Given the description of an element on the screen output the (x, y) to click on. 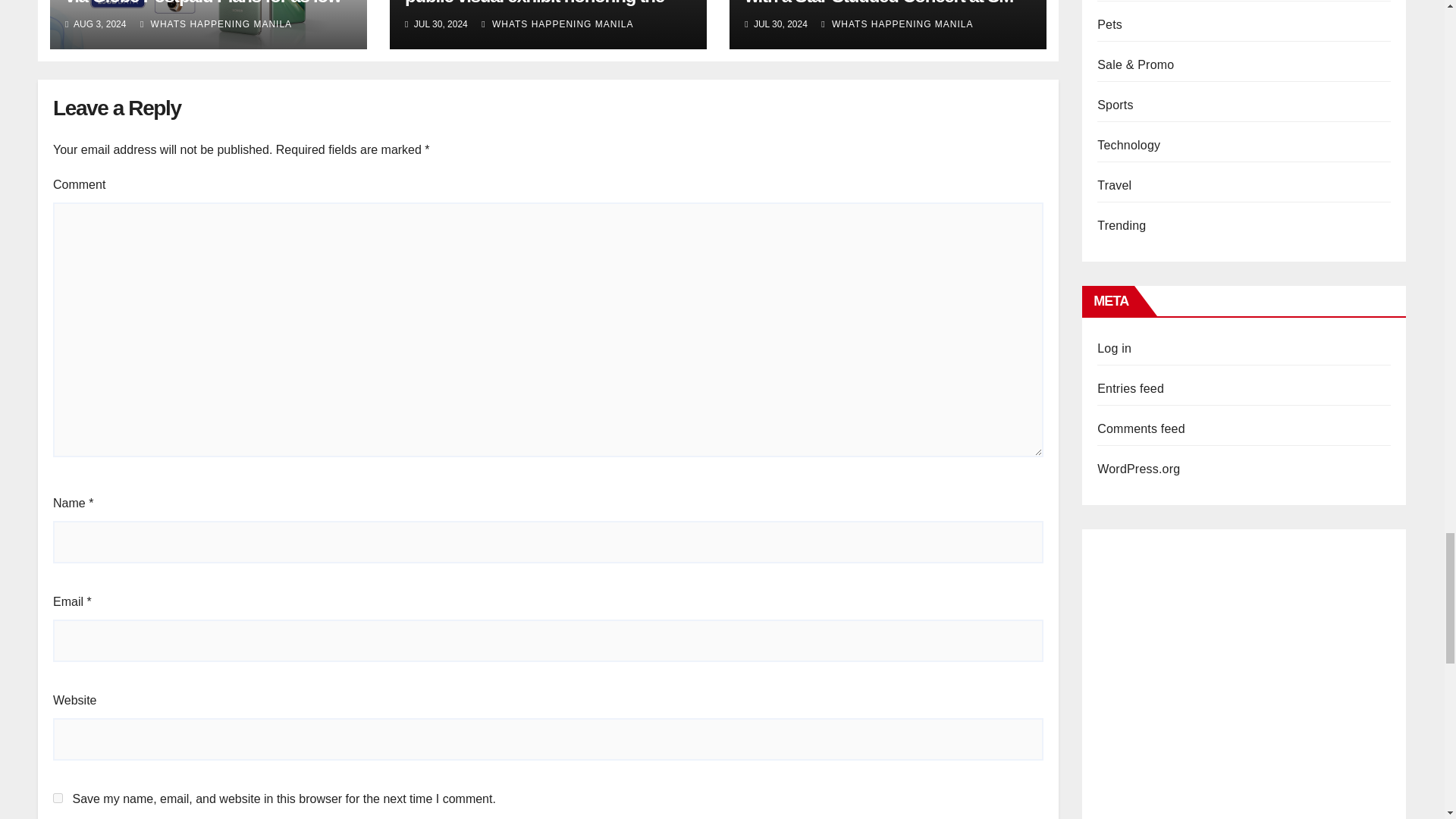
yes (57, 798)
WHATS HAPPENING MANILA (896, 23)
WHATS HAPPENING MANILA (557, 23)
WHATS HAPPENING MANILA (215, 23)
